Given the description of an element on the screen output the (x, y) to click on. 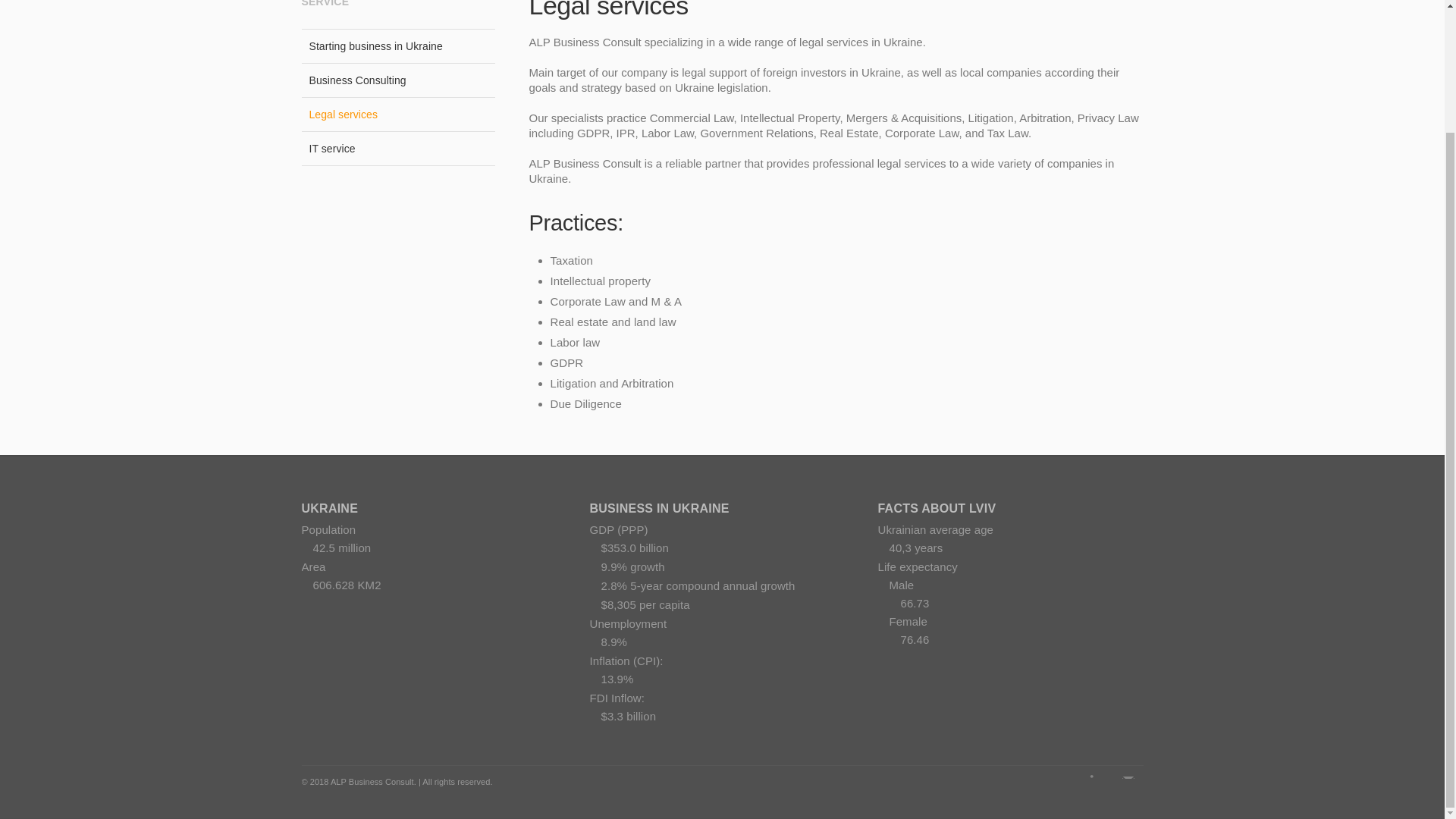
Business Consulting (398, 80)
E-mail (1127, 780)
Starting business in Ukraine (398, 45)
E-mail (1127, 780)
LinkedIn (1096, 780)
IT service (398, 148)
Legal services (398, 114)
LinkedIn (1096, 780)
